Given the description of an element on the screen output the (x, y) to click on. 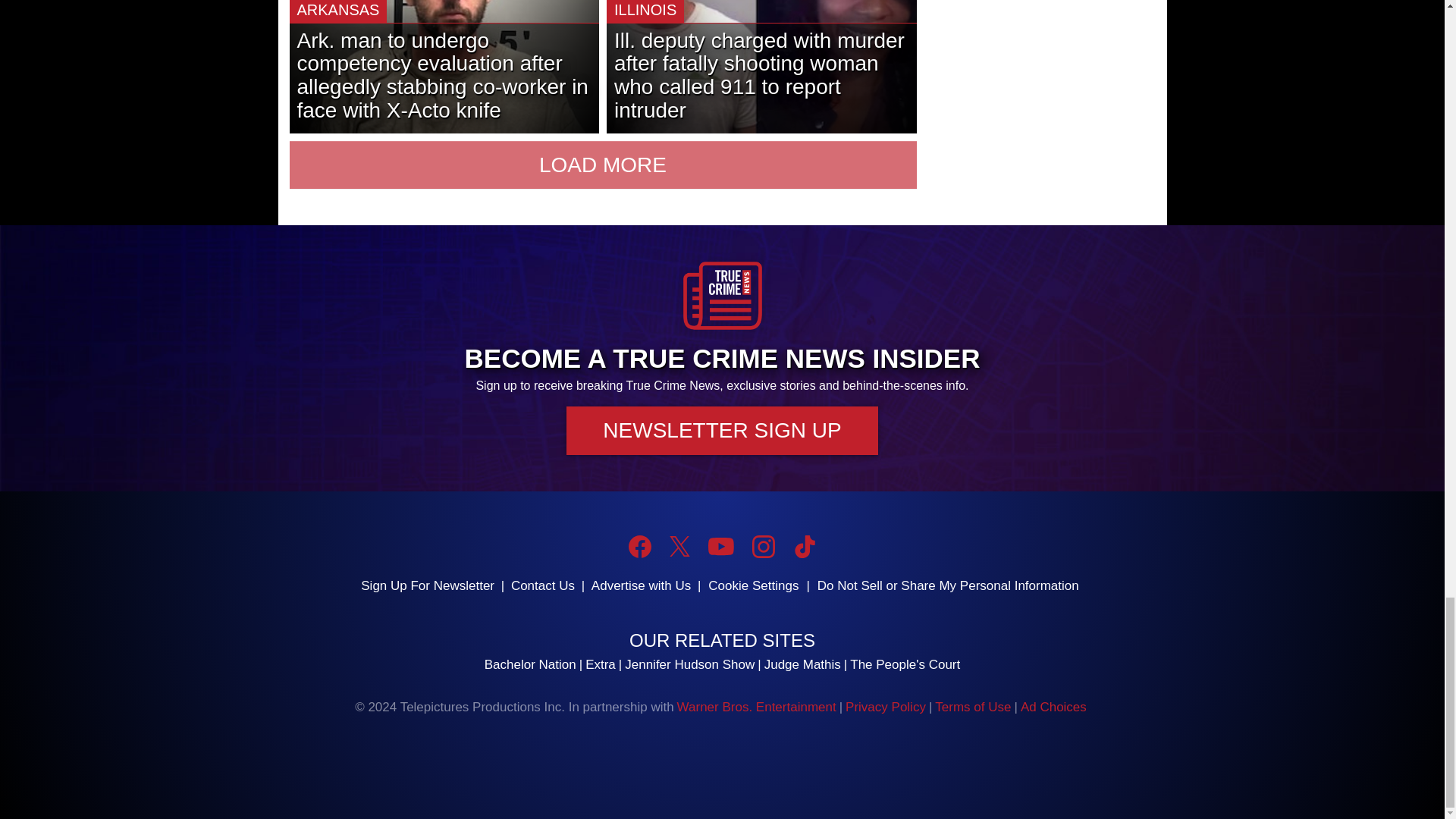
Twitter (679, 546)
Facebook (639, 546)
TikTok (804, 546)
YouTube (720, 546)
Instagram (763, 546)
